Given the description of an element on the screen output the (x, y) to click on. 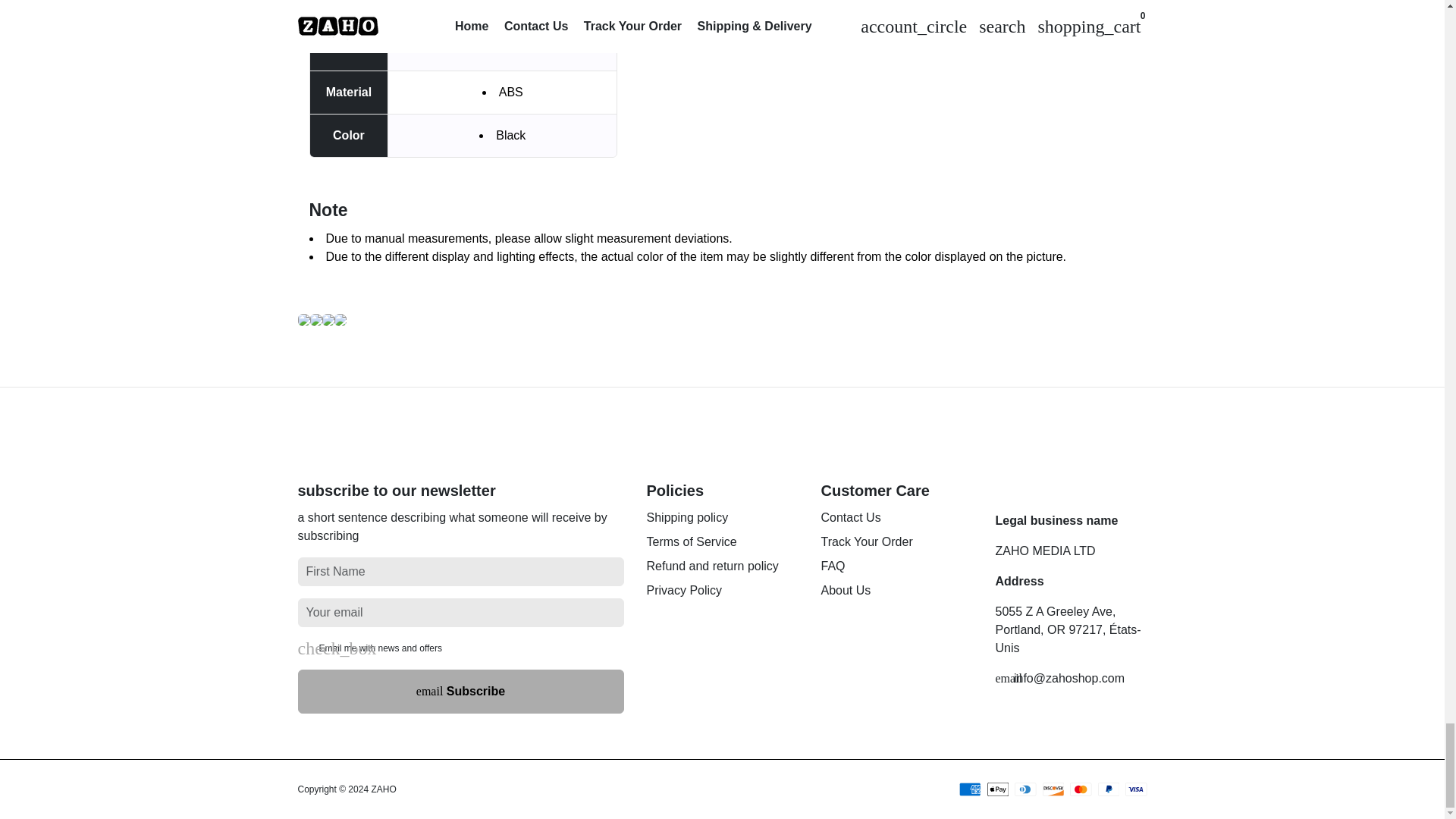
Diners Club (1025, 789)
Visa (1136, 789)
Discover (1052, 789)
American Express (970, 789)
PayPal (1108, 789)
Apple Pay (998, 789)
Mastercard (1081, 789)
